Given the description of an element on the screen output the (x, y) to click on. 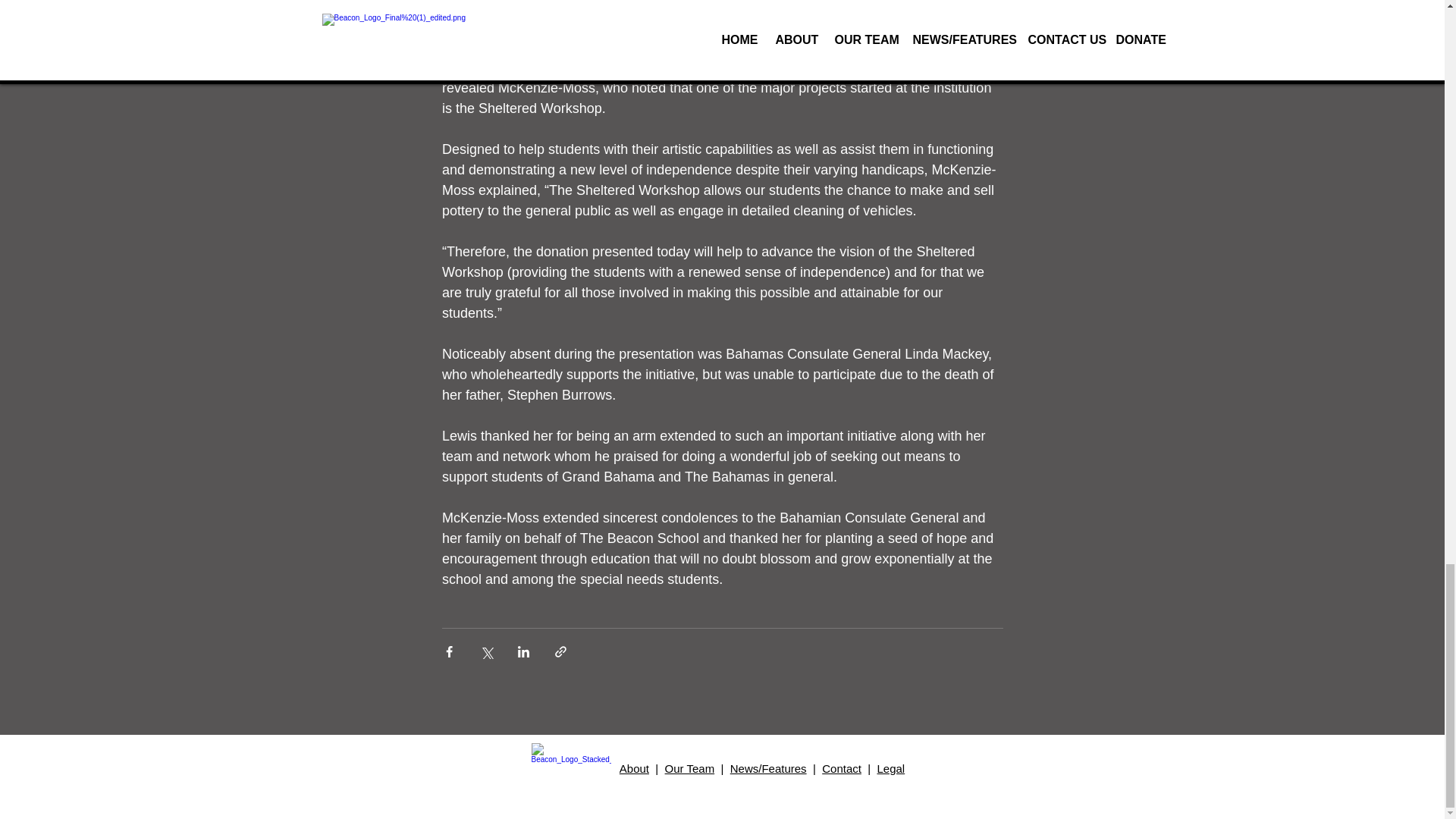
Legal (890, 768)
Our Team (689, 768)
About (634, 768)
Contact (841, 768)
